Given the description of an element on the screen output the (x, y) to click on. 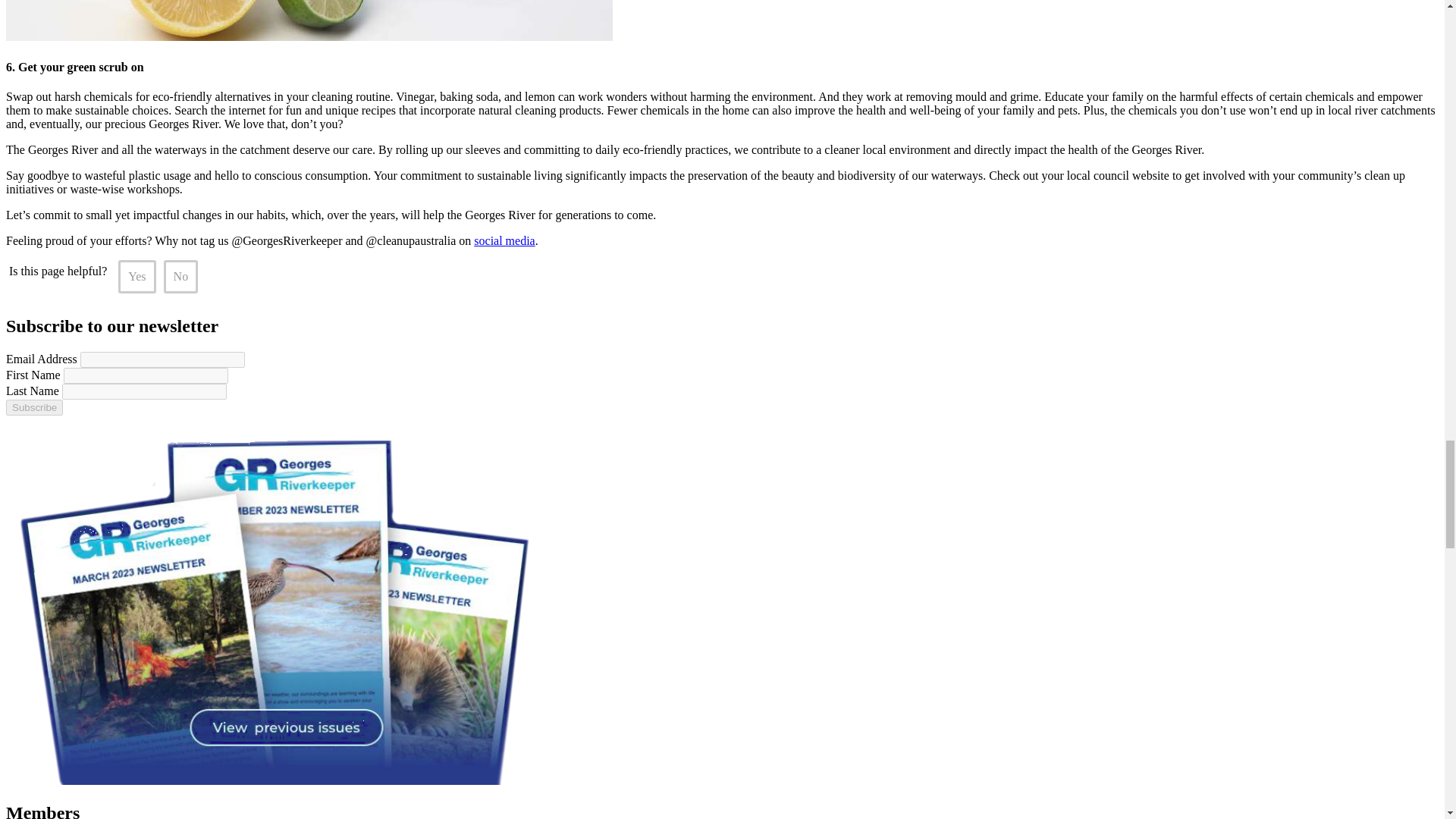
Subscribe (33, 407)
social media (504, 240)
Subscribe (33, 407)
Newsletter Archive (276, 780)
